Given the description of an element on the screen output the (x, y) to click on. 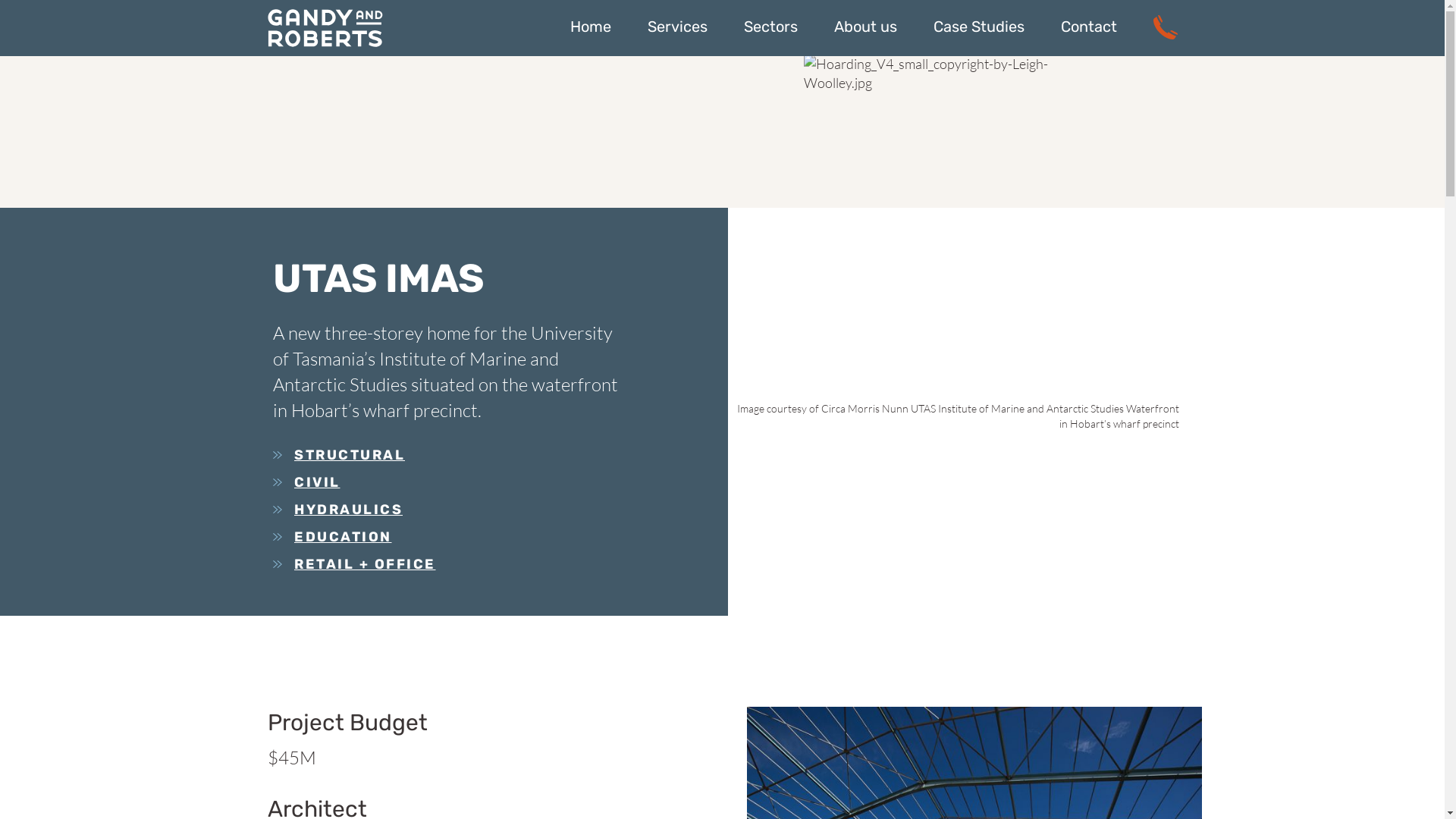
CIVIL Element type: text (447, 481)
Case Studies Element type: text (977, 26)
About us Element type: text (865, 26)
Contact Element type: text (1088, 26)
STRUCTURAL Element type: text (447, 454)
Sectors Element type: text (770, 26)
HYDRAULICS Element type: text (447, 509)
Home Element type: text (590, 26)
EDUCATION Element type: text (447, 536)
Phone us Element type: text (1164, 27)
RETAIL + OFFICE Element type: text (447, 563)
Services Element type: text (677, 26)
